Given the description of an element on the screen output the (x, y) to click on. 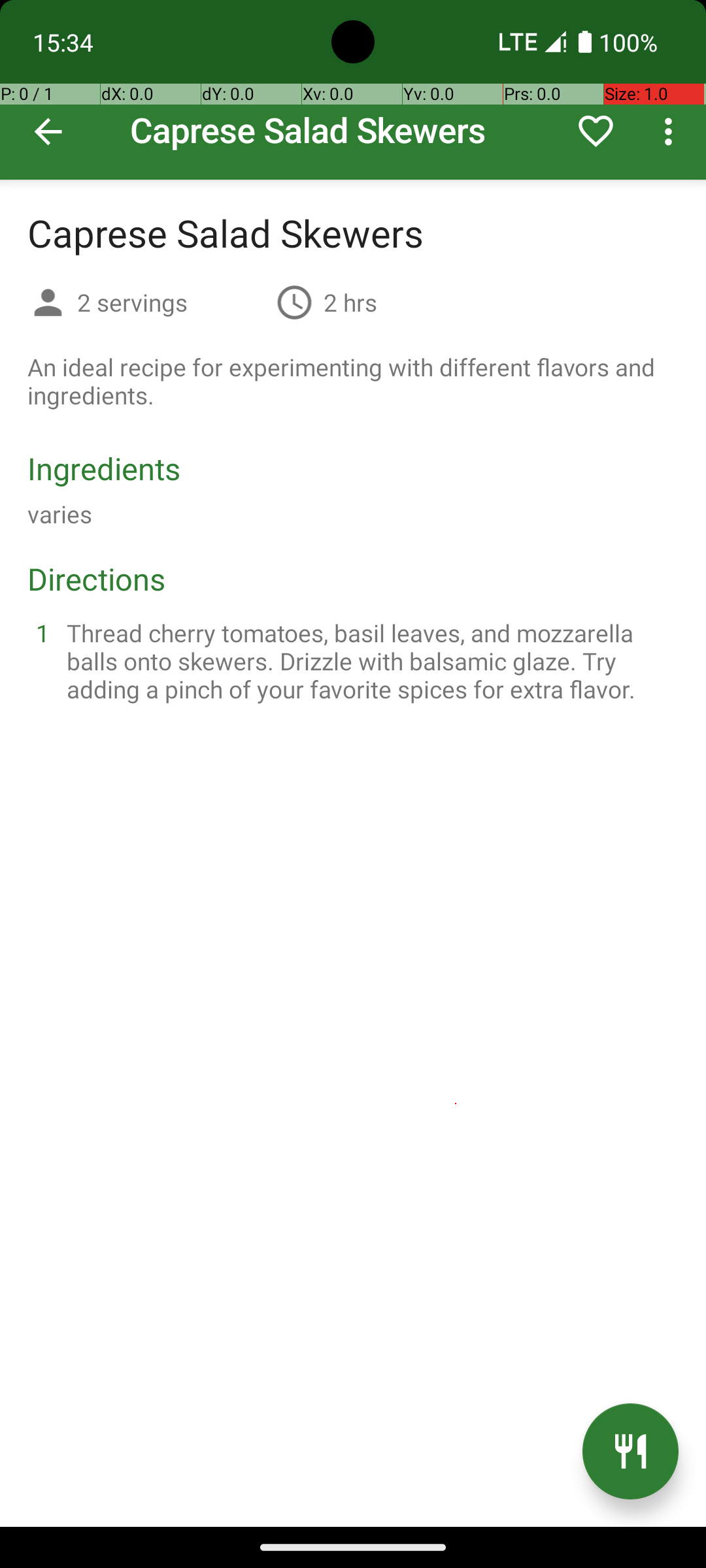
varies Element type: android.widget.TextView (59, 513)
Thread cherry tomatoes, basil leaves, and mozzarella balls onto skewers. Drizzle with balsamic glaze. Try adding a pinch of your favorite spices for extra flavor. Element type: android.widget.TextView (368, 660)
